Given the description of an element on the screen output the (x, y) to click on. 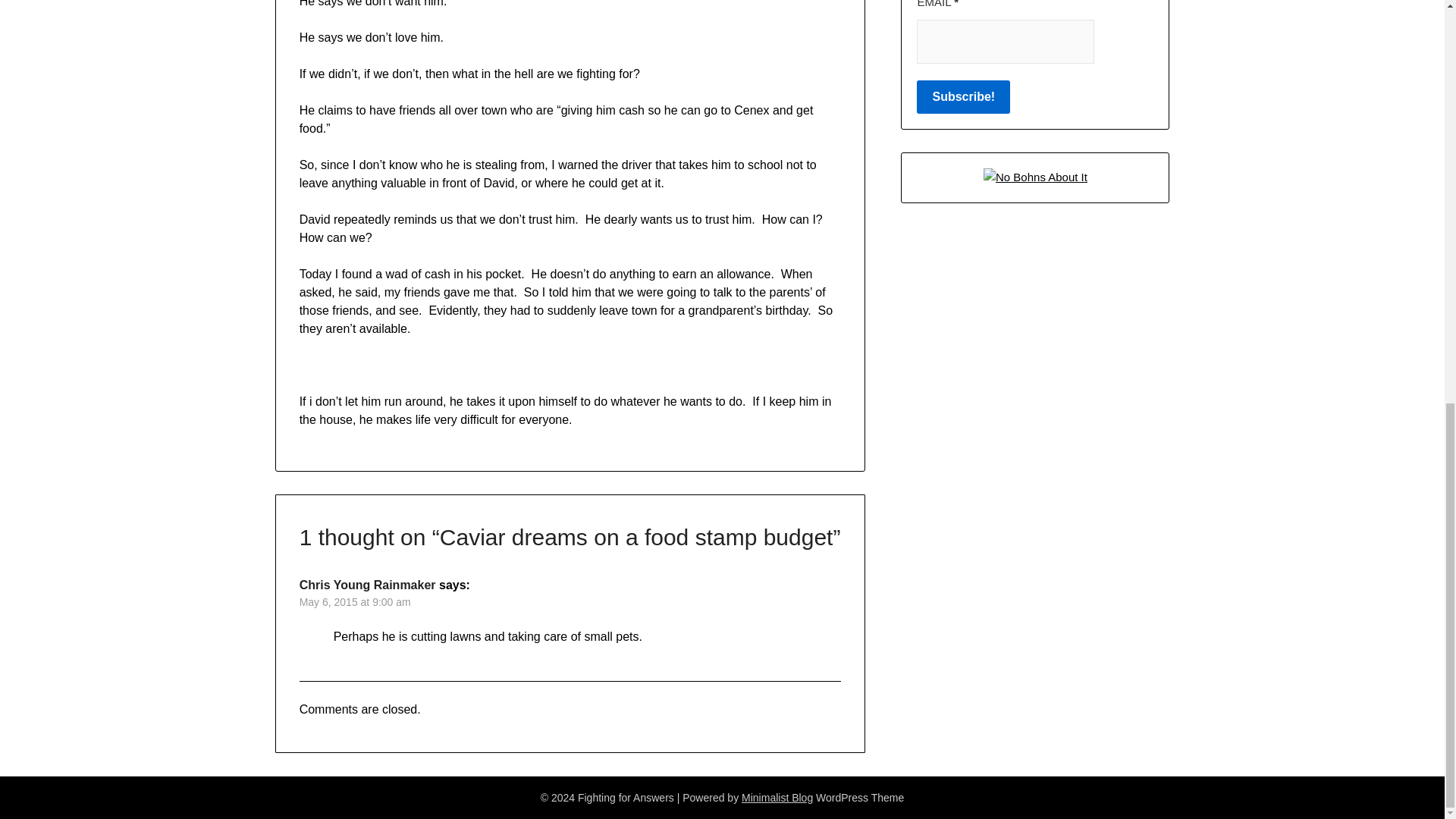
Minimalist Blog (776, 797)
May 6, 2015 at 9:00 am (354, 602)
Email (1005, 41)
Subscribe! (963, 96)
Chris Young Rainmaker (367, 584)
No Bohns About It (1035, 176)
Subscribe! (963, 96)
